Given the description of an element on the screen output the (x, y) to click on. 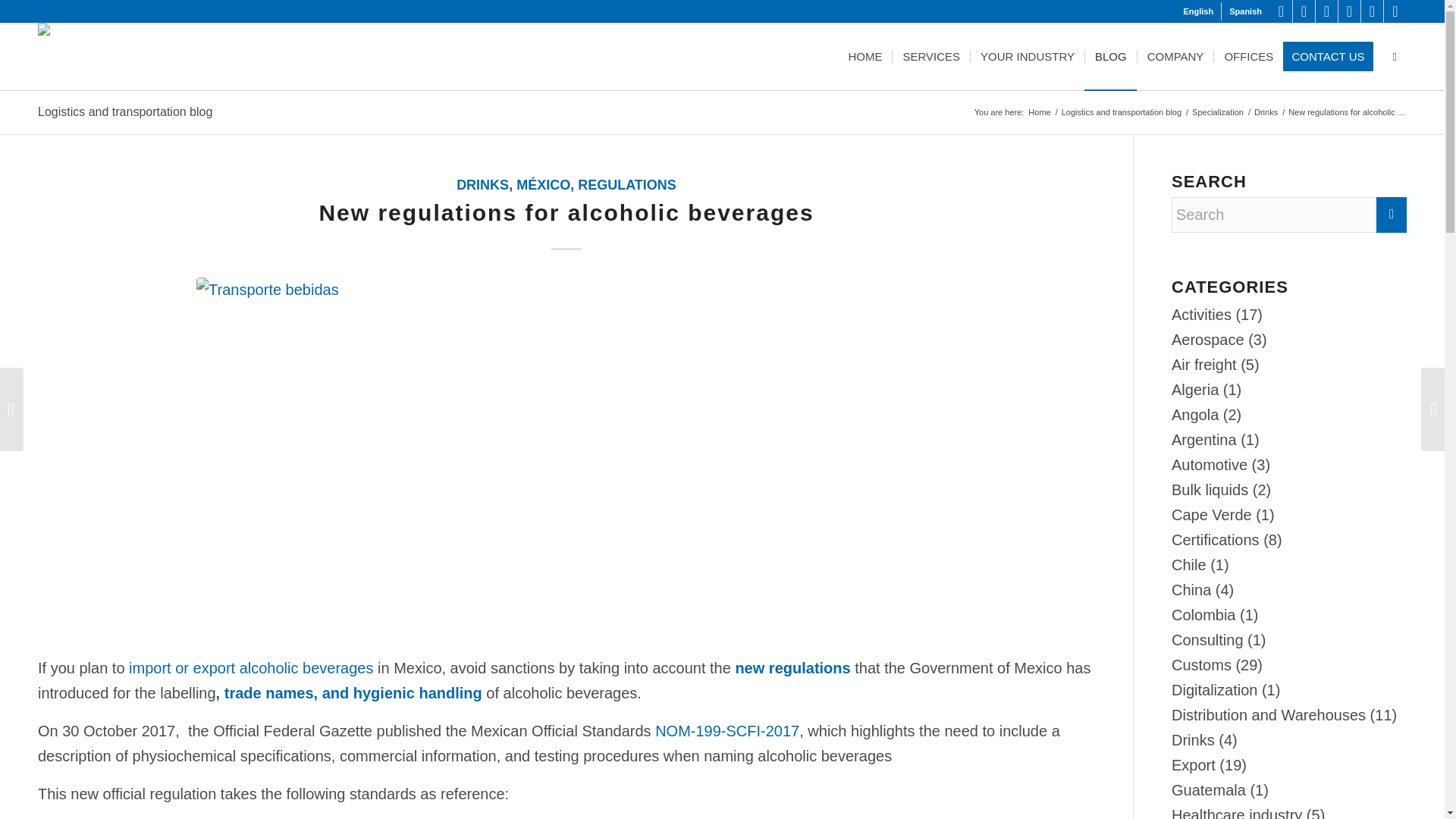
Logistics and transportation blog (1121, 112)
Permanent Link: Logistics and transportation blog (124, 111)
English (1197, 11)
Facebook (1327, 11)
Spanish (1245, 11)
SERVICES (930, 56)
English (1197, 11)
Mail (1395, 11)
Youtube (1348, 11)
YOUR INDUSTRY (1026, 56)
